Given the description of an element on the screen output the (x, y) to click on. 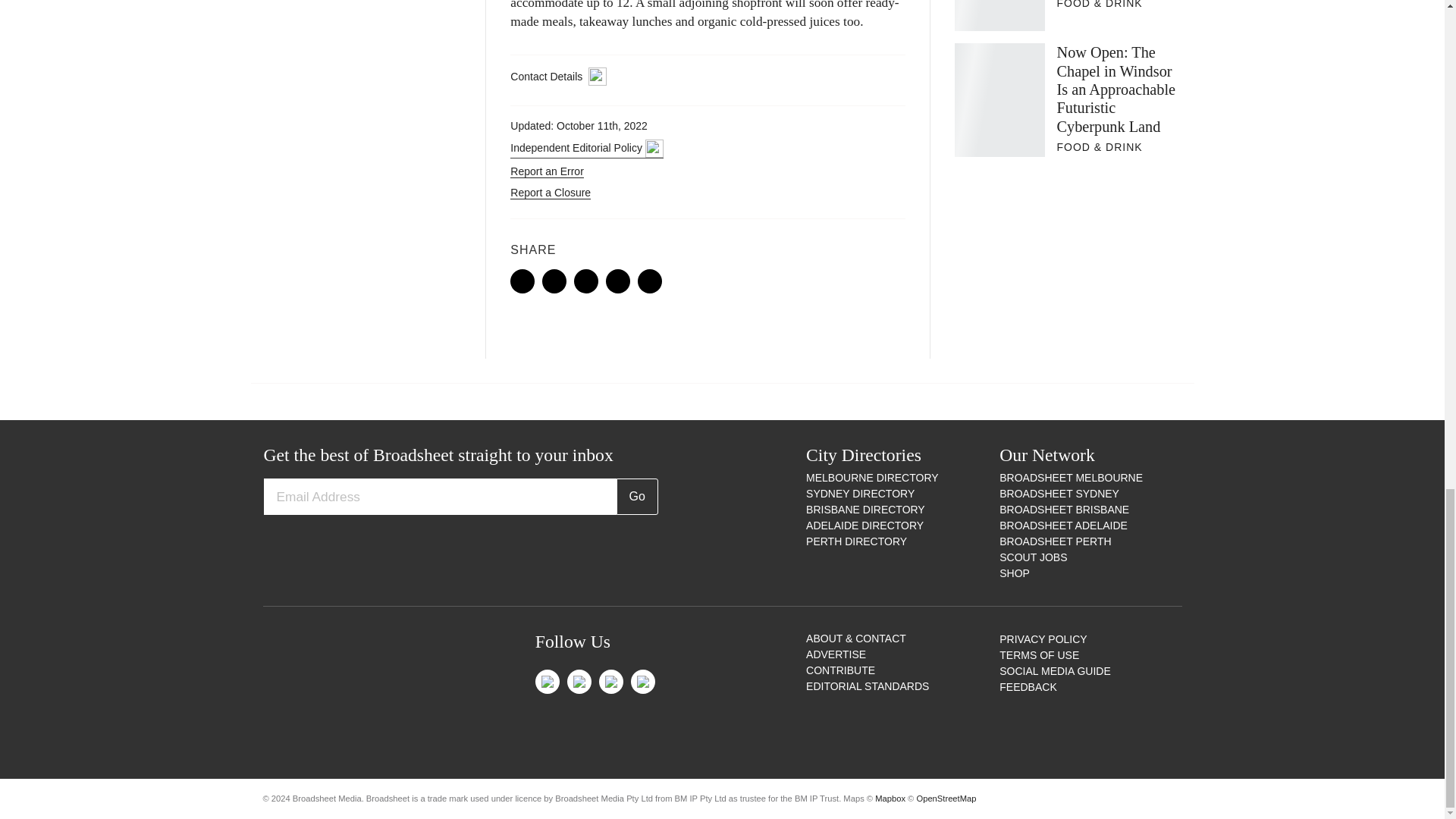
Independent Editorial Policy (586, 148)
Report an Error (547, 171)
